Given the description of an element on the screen output the (x, y) to click on. 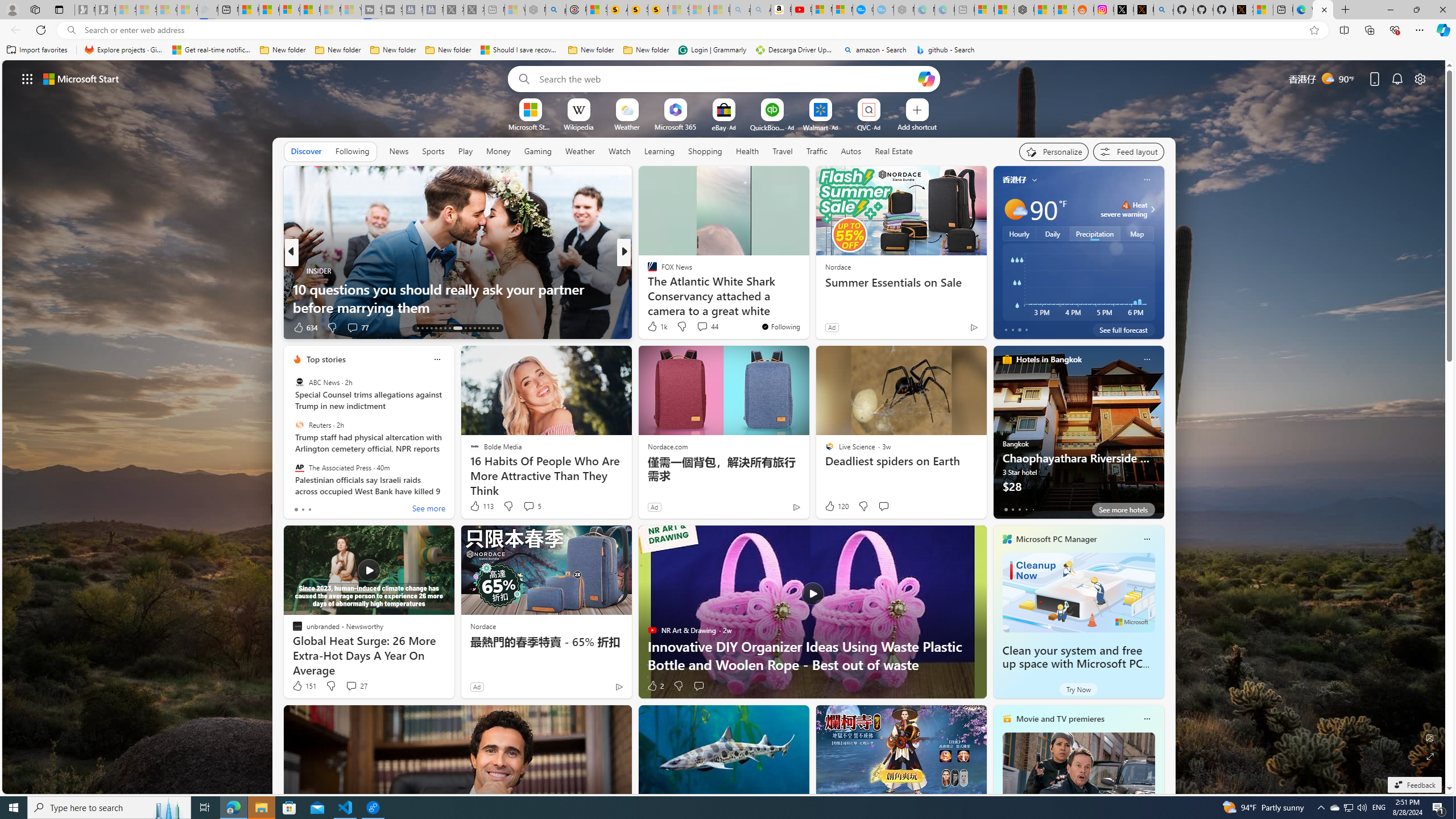
Fox Business (647, 288)
Autos (851, 151)
Heat - Severe Heat severe warning (1123, 208)
View comments 4 Comment (702, 327)
